Given the description of an element on the screen output the (x, y) to click on. 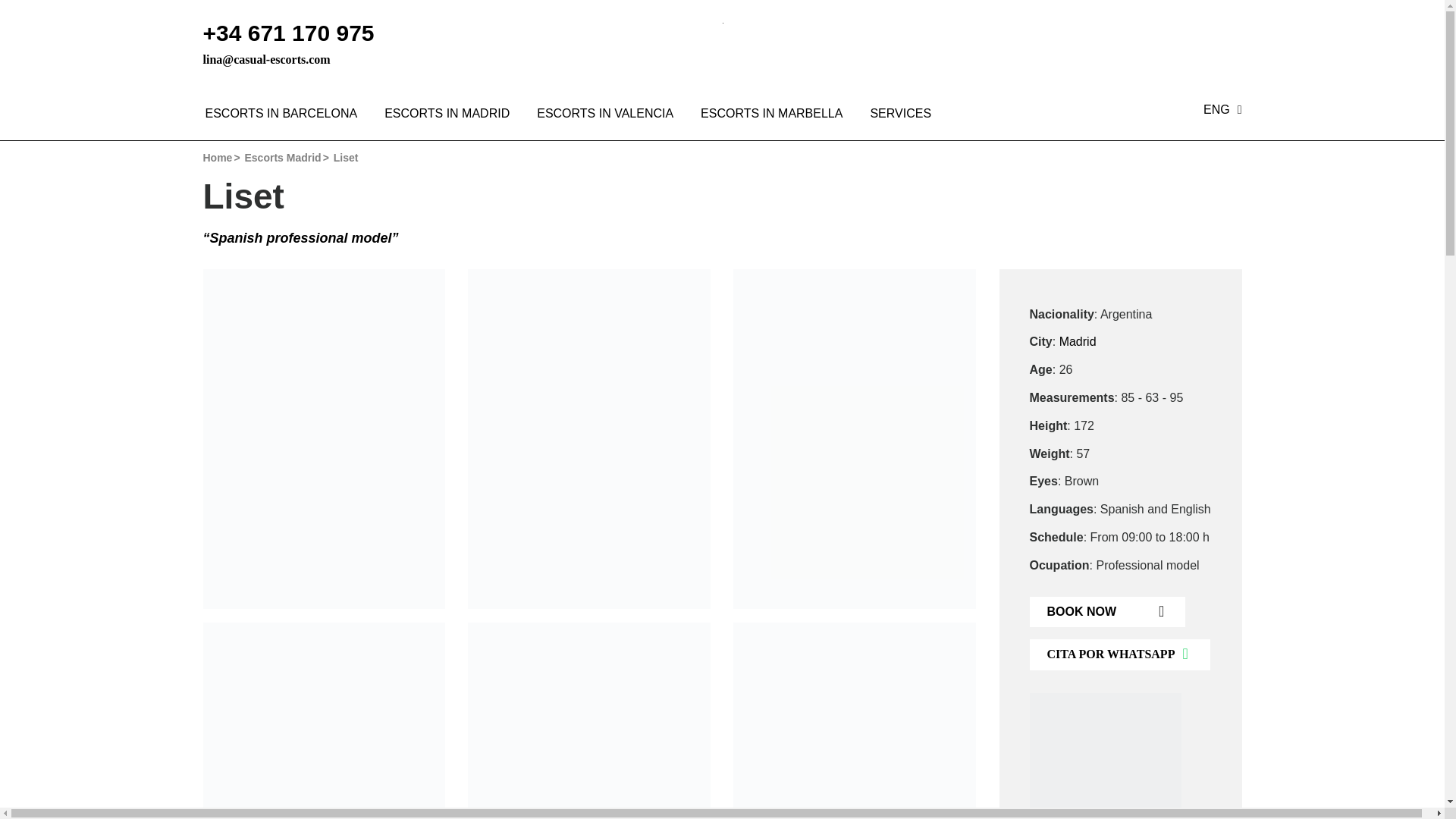
Home (217, 157)
ESCORTS IN MADRID (446, 113)
ESCORTS IN VALENCIA (604, 113)
ESCORTS IN MARBELLA (771, 113)
SERVICES (893, 113)
Escorts Madrid (282, 157)
Madrid (1077, 341)
ESCORTS IN BARCELONA (280, 113)
